Given the description of an element on the screen output the (x, y) to click on. 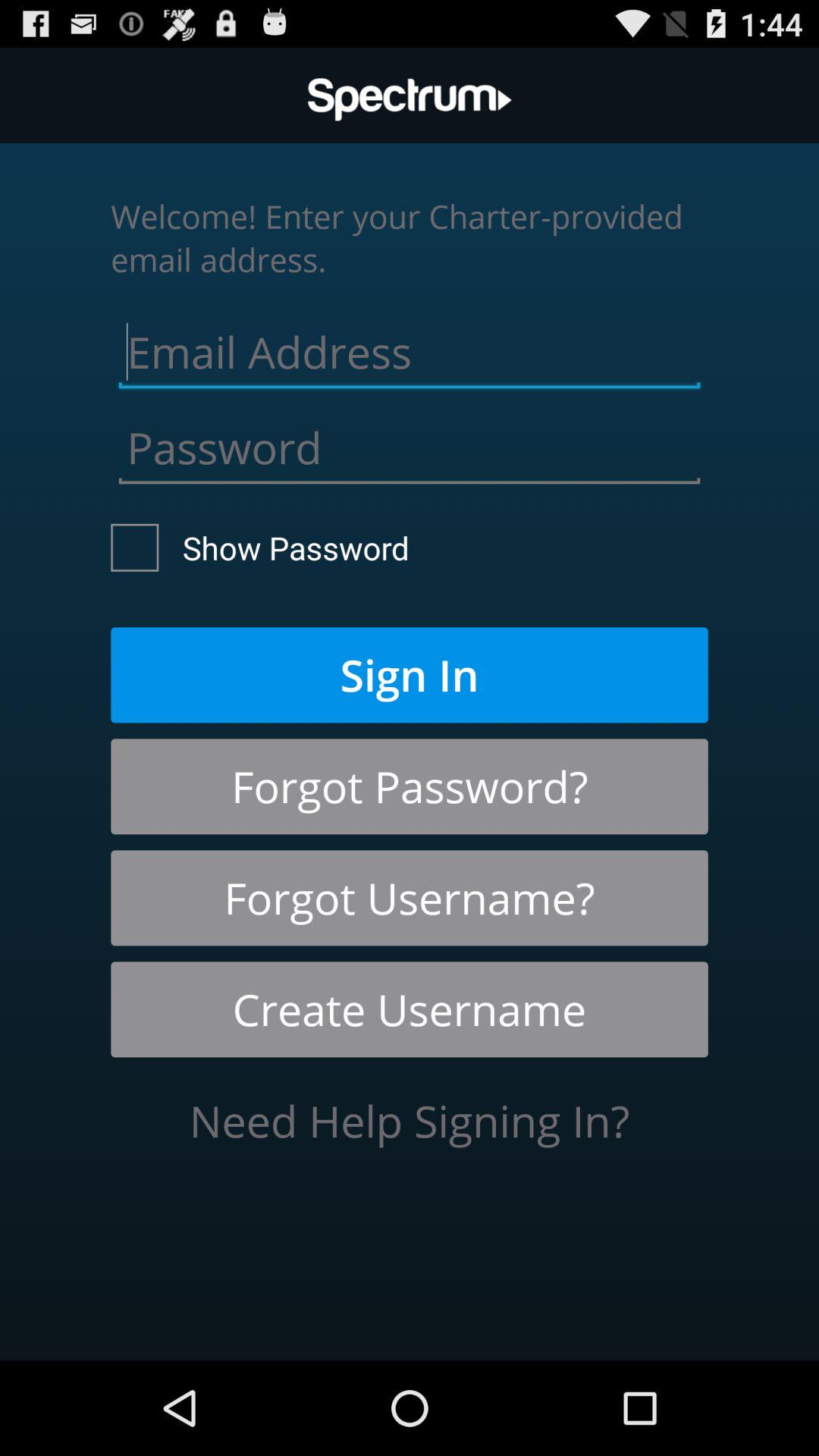
click create username (409, 1009)
